Given the description of an element on the screen output the (x, y) to click on. 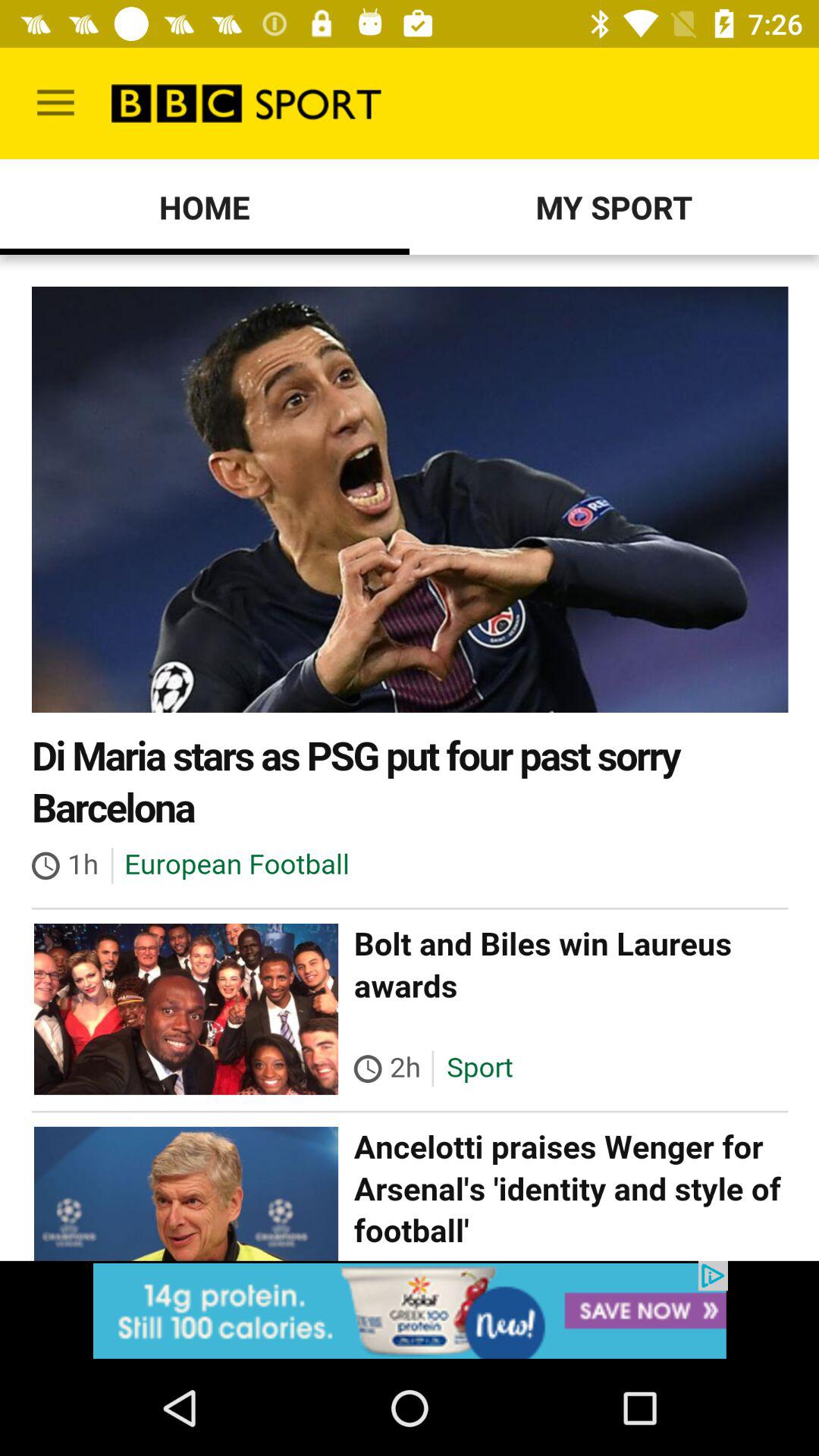
see product (409, 1310)
